Given the description of an element on the screen output the (x, y) to click on. 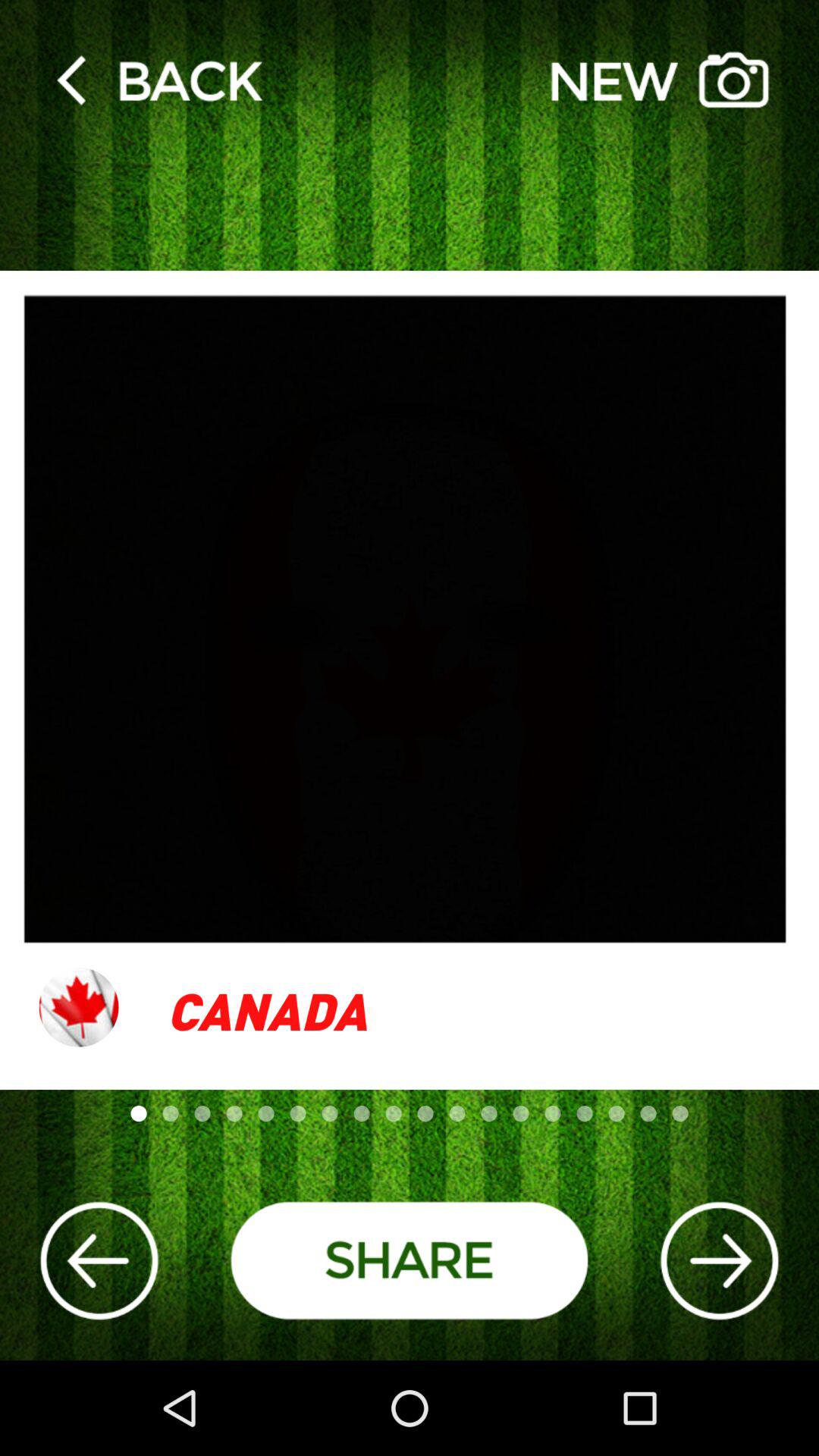
click item at the top left corner (158, 79)
